Given the description of an element on the screen output the (x, y) to click on. 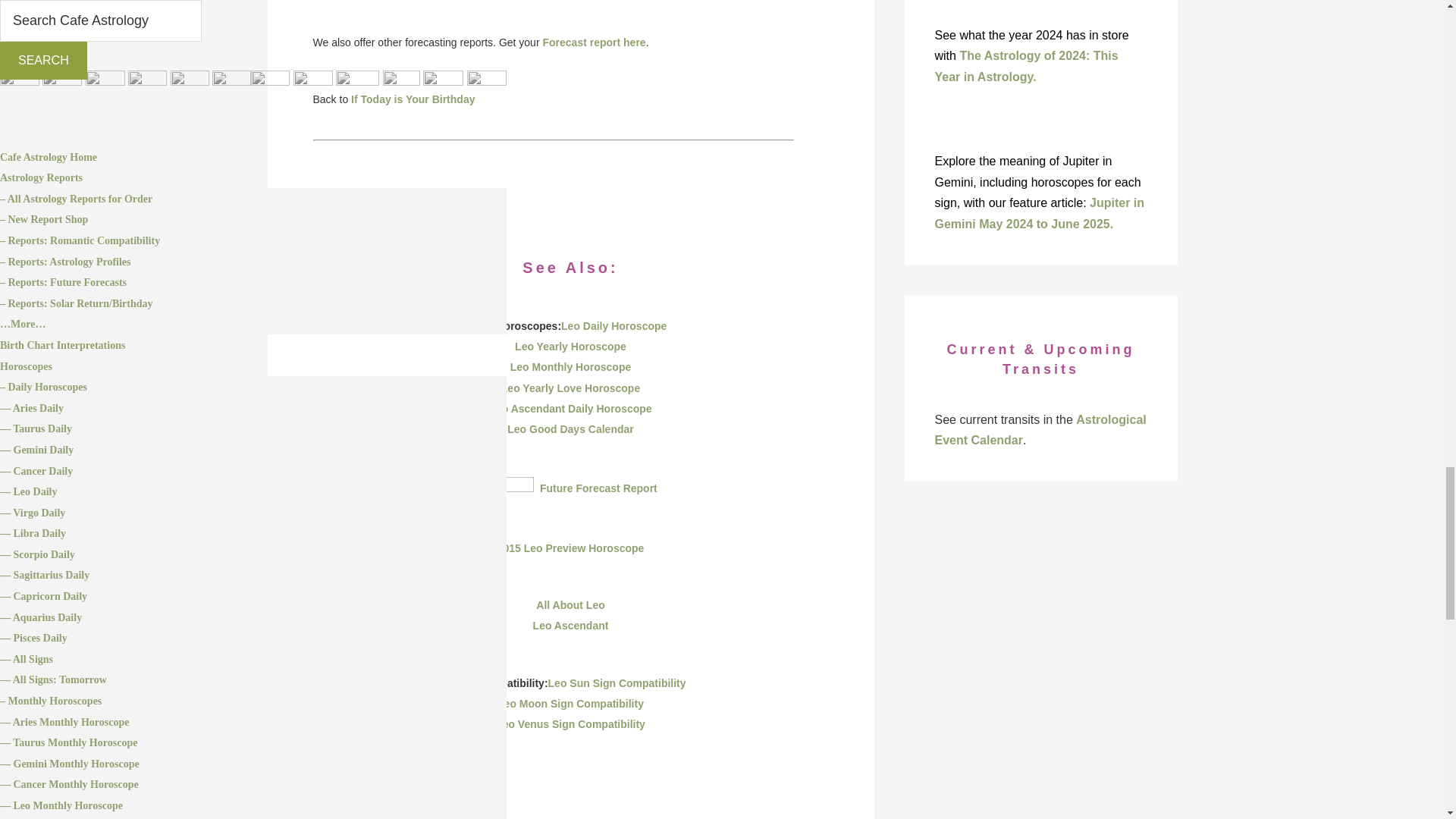
2015 Leo Preview Horoscope (571, 548)
Leo Ascendant Daily Horoscope (569, 408)
If Today is Your Birthday (412, 99)
Leo Ascendant (570, 625)
All About Leo (569, 604)
Future Forecast Report (599, 488)
Leo Moon Sign Compatibility (570, 703)
Leo Yearly Horoscope (570, 346)
Leo Good Days Calendar (569, 428)
Leo Monthly Horoscope (570, 367)
